Given the description of an element on the screen output the (x, y) to click on. 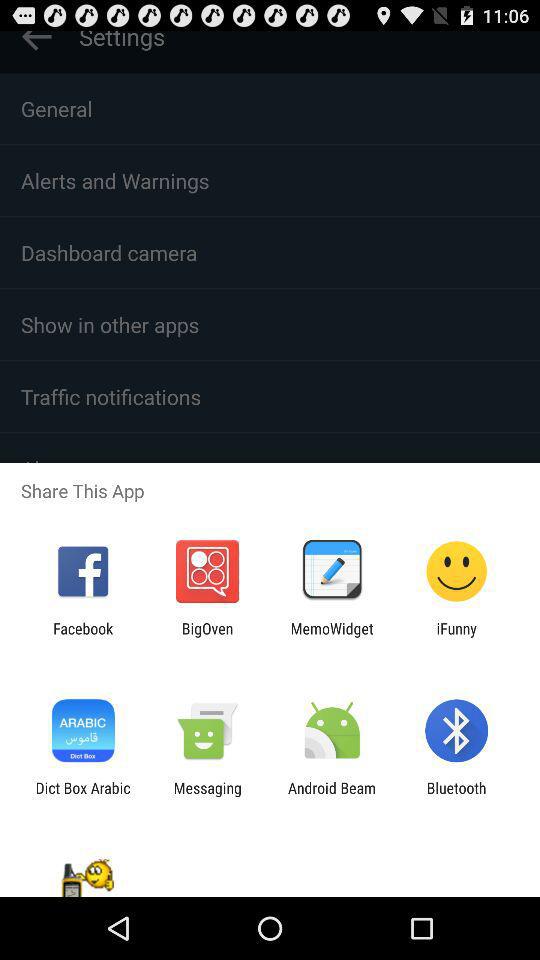
swipe to the android beam (332, 796)
